Given the description of an element on the screen output the (x, y) to click on. 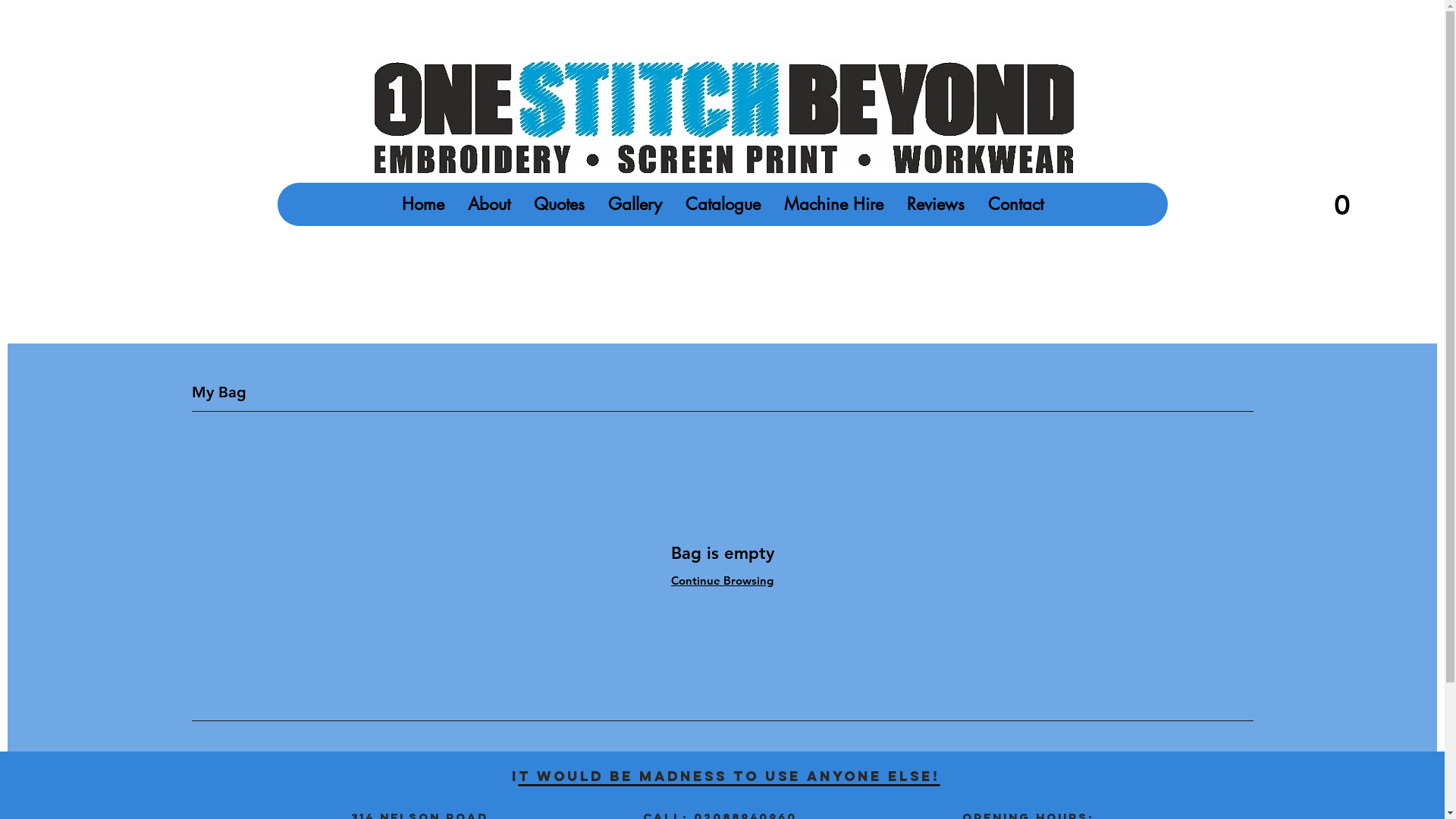
Continue Browsing Element type: text (722, 580)
Gallery Element type: text (634, 203)
Quotes Element type: text (558, 203)
1 Stitch Beyond, One Stitch Beyond Element type: hover (723, 118)
0 Element type: text (1310, 203)
Reviews Element type: text (934, 203)
Machine Hire Element type: text (832, 203)
Home Element type: text (422, 203)
Catalogue Element type: text (722, 203)
Contact Element type: text (1014, 203)
About Element type: text (488, 203)
